Given the description of an element on the screen output the (x, y) to click on. 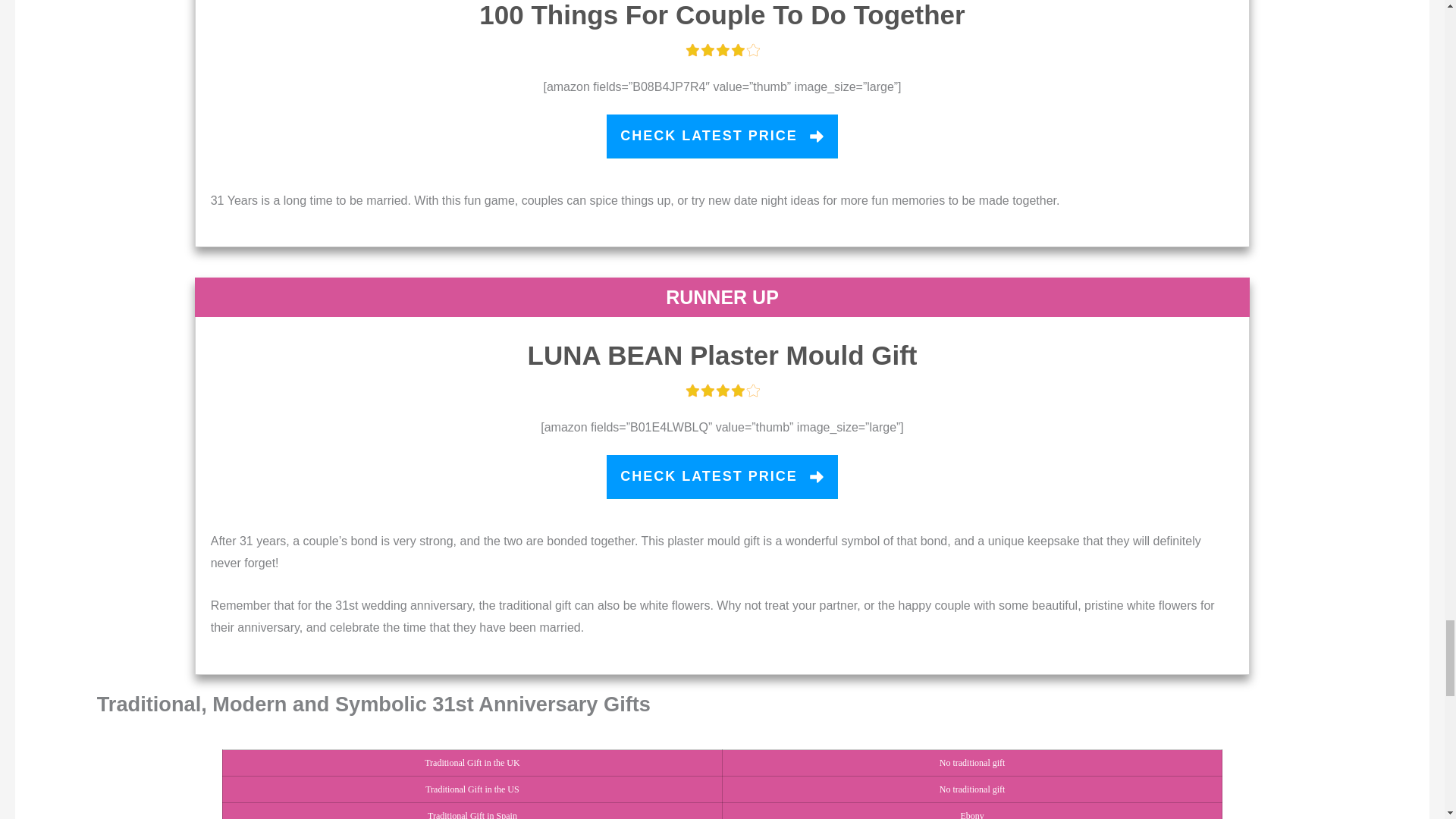
100 Things For Couple To Do Together (721, 14)
LUNA BEAN Plaster Mould Gift (722, 355)
CHECK LATEST PRICE (722, 136)
